Given the description of an element on the screen output the (x, y) to click on. 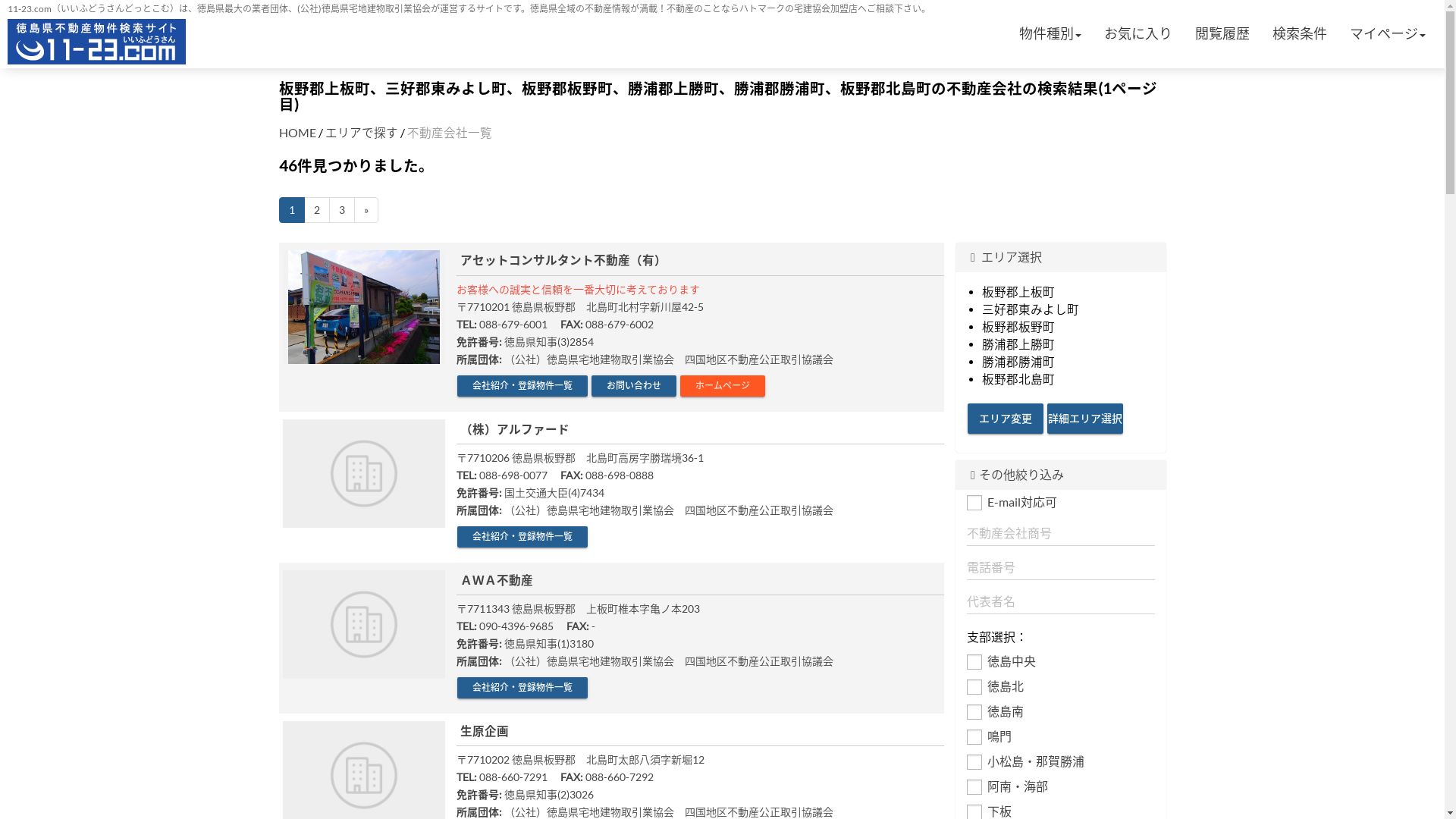
1 Element type: text (291, 209)
2 Element type: text (316, 209)
3 Element type: text (341, 209)
HOME Element type: text (297, 132)
